Given the description of an element on the screen output the (x, y) to click on. 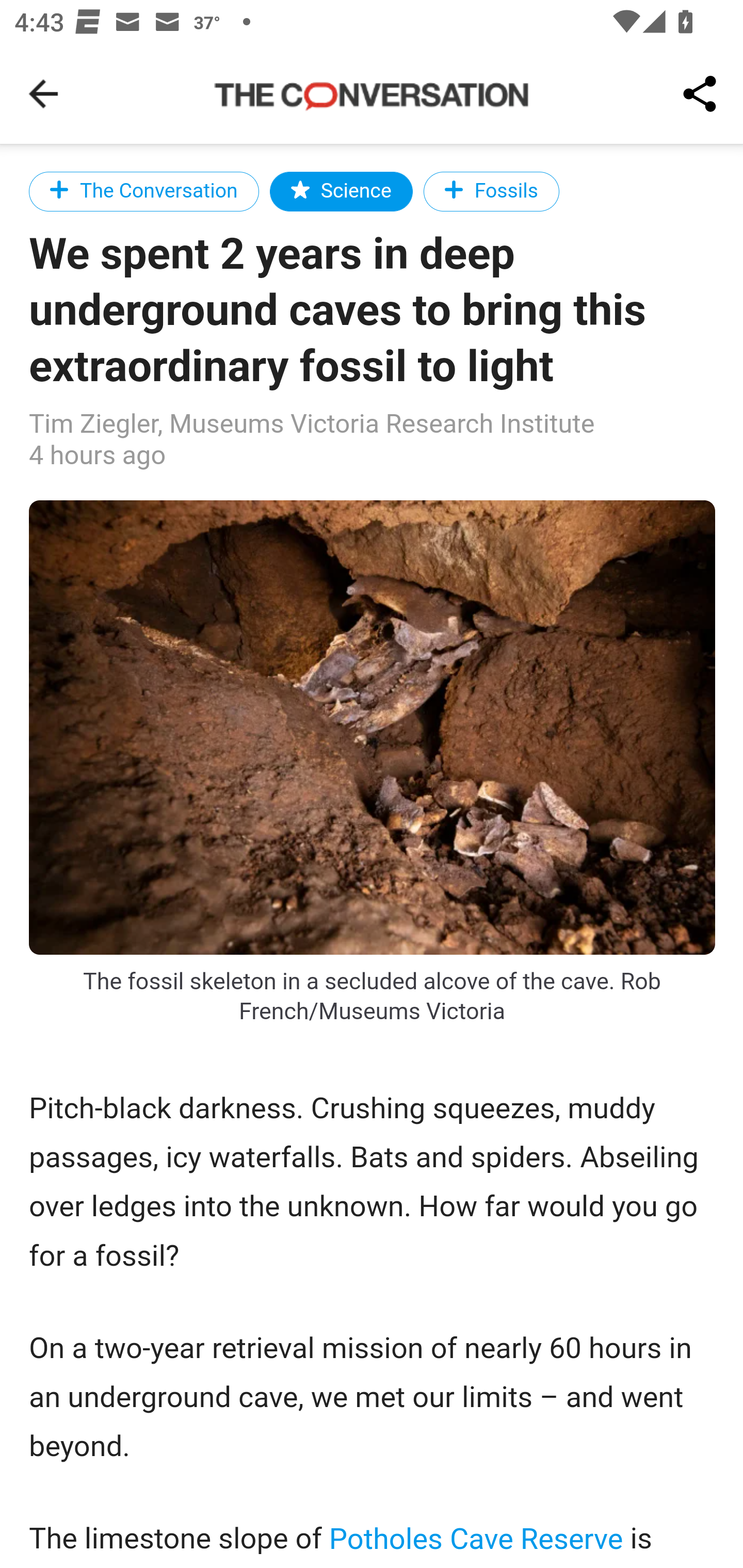
The Conversation (144, 191)
Science (340, 191)
Fossils (490, 191)
Potholes Cave Reserve (476, 1537)
